Given the description of an element on the screen output the (x, y) to click on. 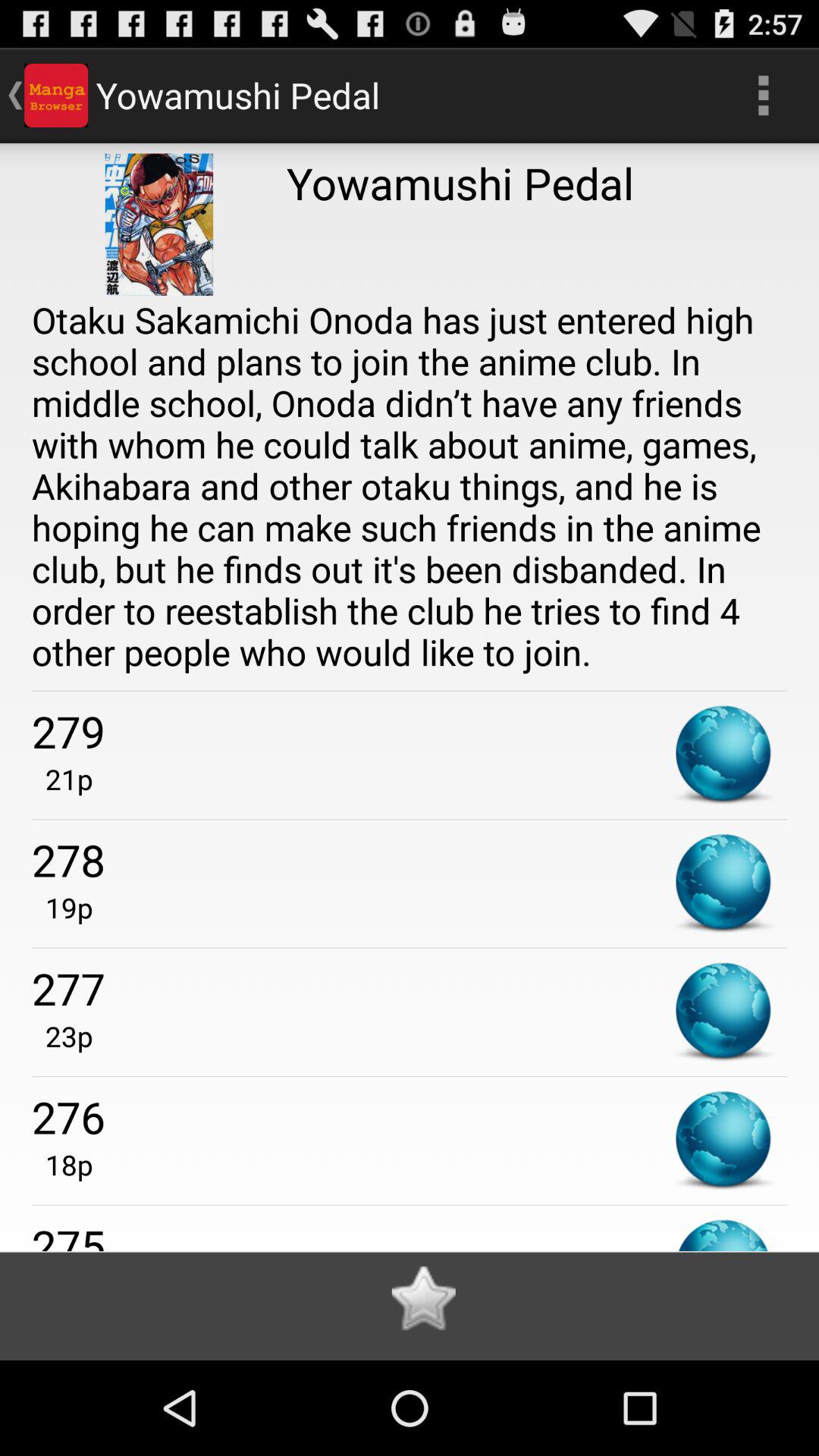
open the 279 app (409, 730)
